Given the description of an element on the screen output the (x, y) to click on. 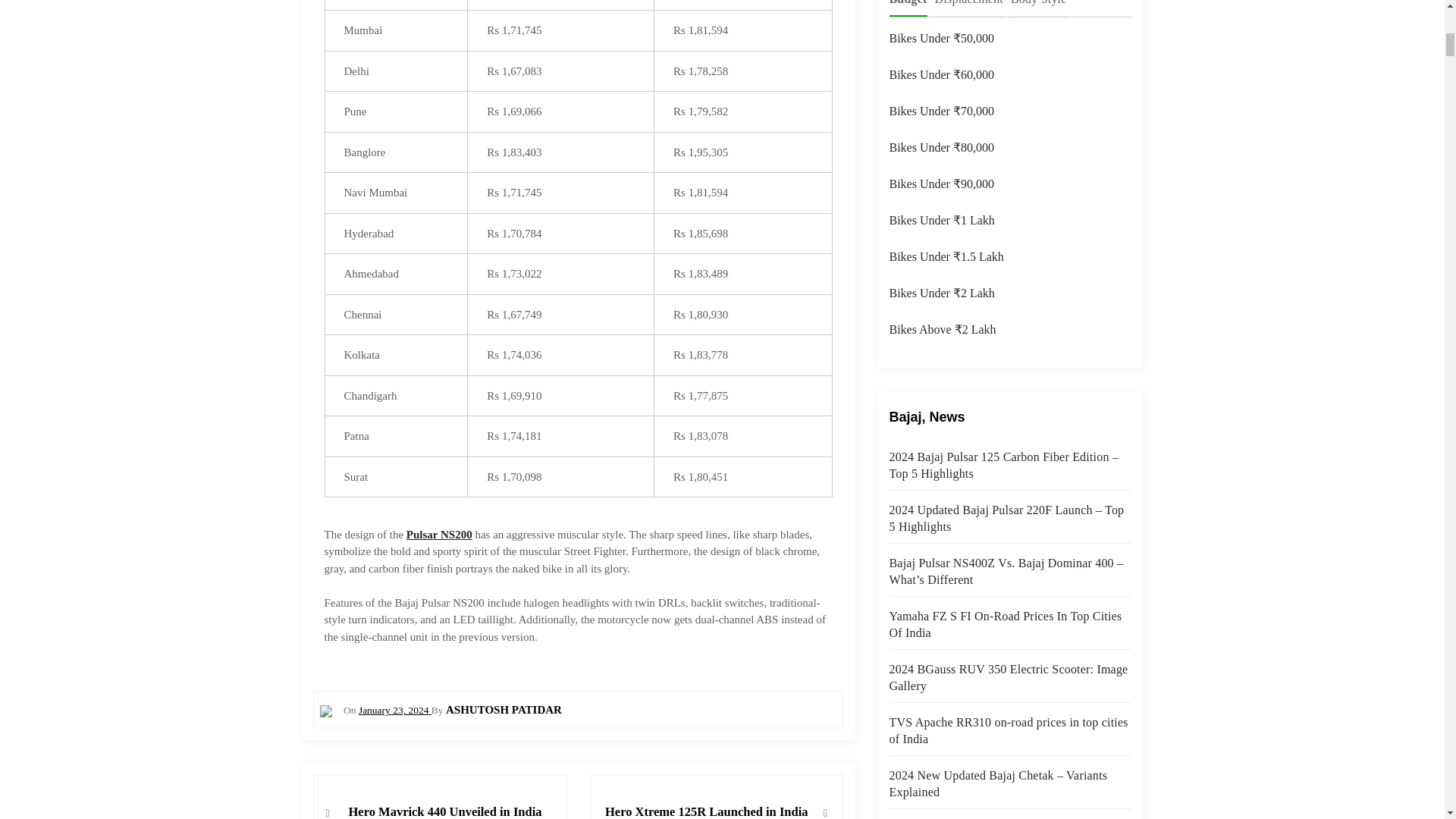
ASHUTOSH PATIDAR (503, 709)
Hero Xtreme 125R Launched in India (705, 802)
Pulsar NS200 (438, 534)
January 23, 2024 (394, 709)
